Given the description of an element on the screen output the (x, y) to click on. 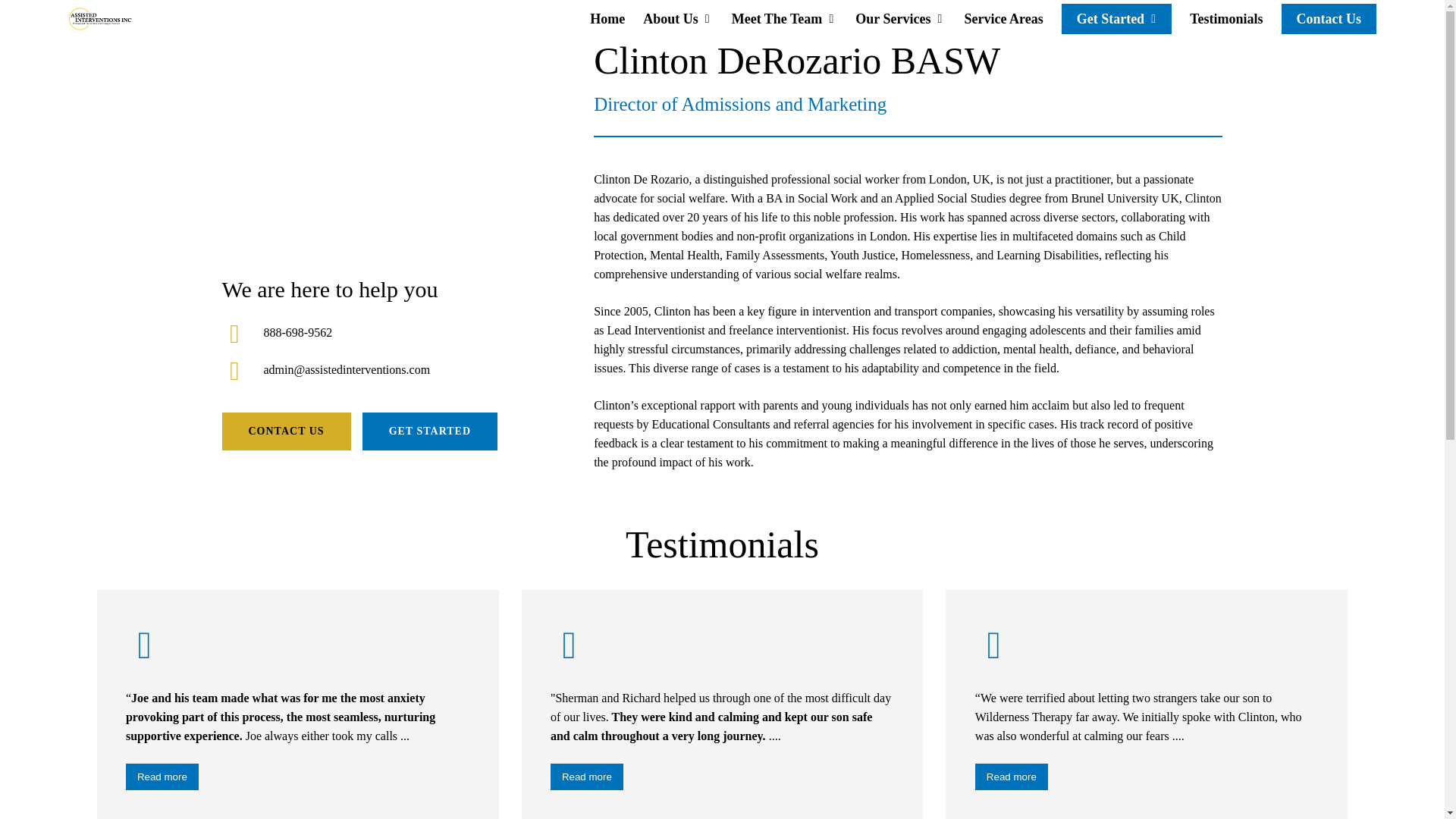
Service Areas (1003, 18)
Testimonials (1225, 18)
Home (606, 18)
Read more (1011, 776)
CONTACT US (285, 431)
Get Started (1116, 18)
GET STARTED (429, 431)
Meet The Team (785, 18)
Our Services (900, 18)
Read more (161, 776)
